Given the description of an element on the screen output the (x, y) to click on. 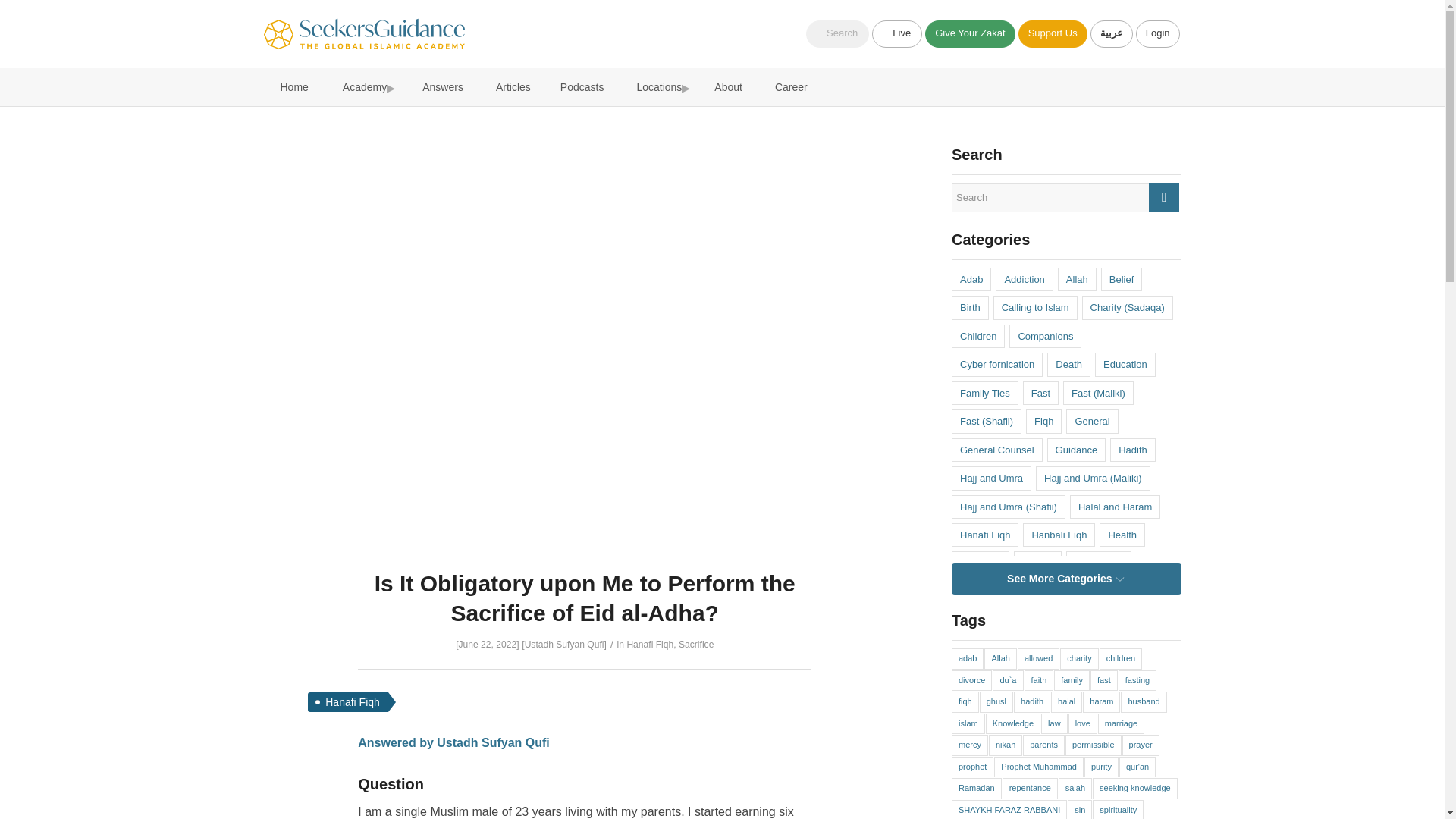
Answers (438, 86)
Hanafi Fiqh (649, 644)
Ustadh Sufyan Qufi (564, 644)
Give Your Zakat (969, 33)
Support Us (1052, 33)
Podcasts (581, 86)
Academy (361, 86)
Search (837, 33)
Live (896, 33)
Articles (510, 86)
